Given the description of an element on the screen output the (x, y) to click on. 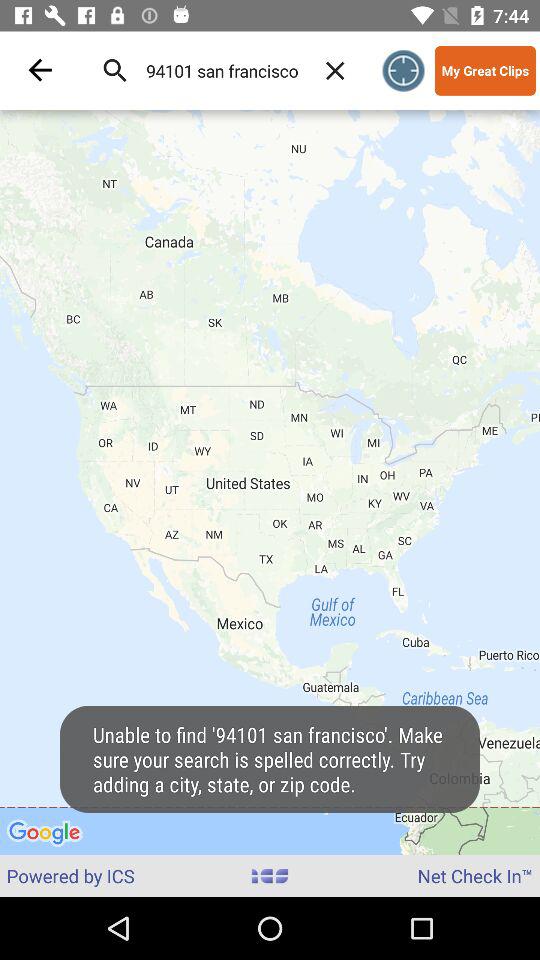
jump to the 94101 san francisco icon (222, 70)
